Given the description of an element on the screen output the (x, y) to click on. 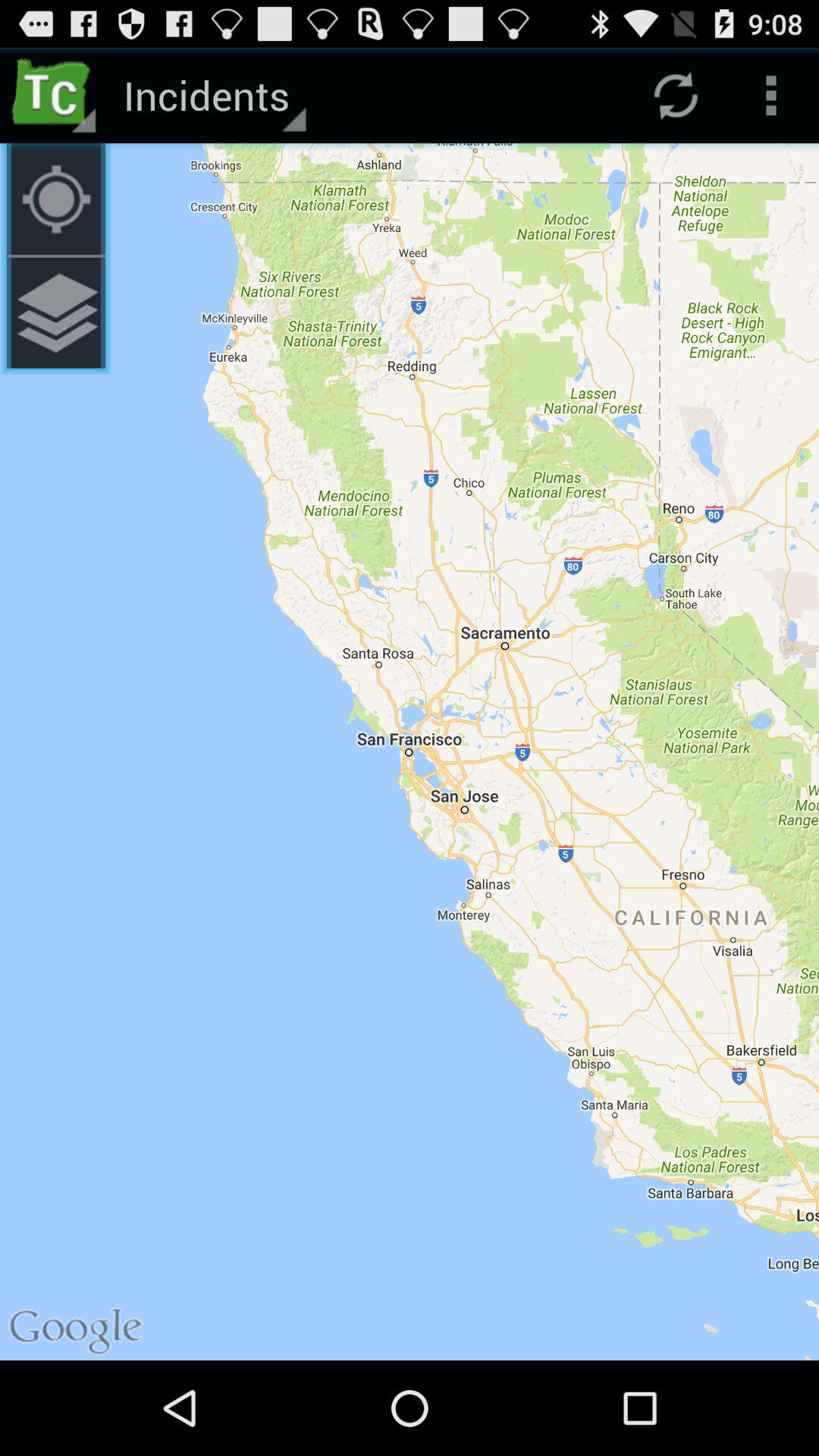
click the item to the left of the incidents app (55, 95)
